Given the description of an element on the screen output the (x, y) to click on. 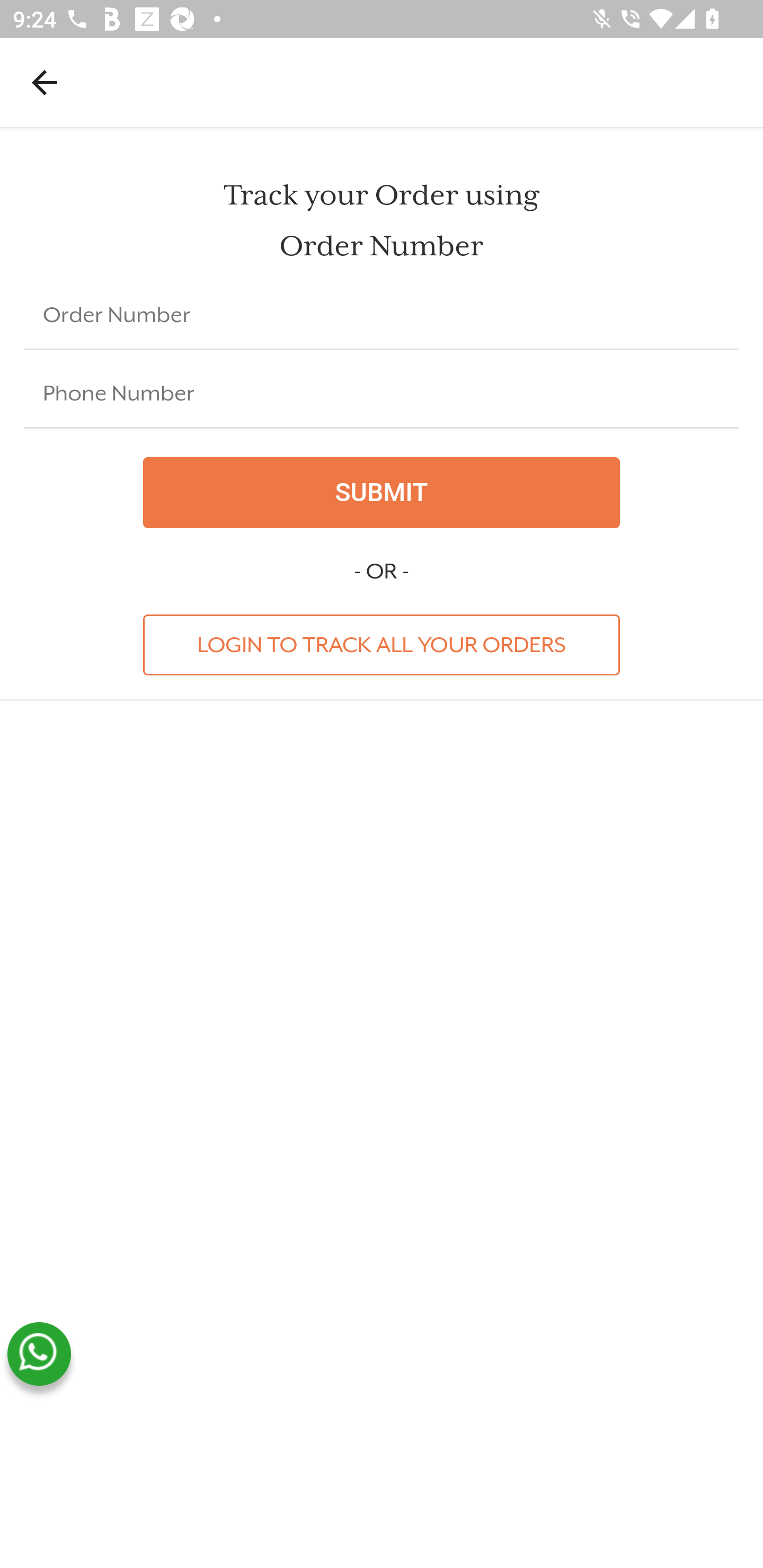
Navigate up (44, 82)
SUBMIT (381, 492)
LOGIN TO TRACK ALL YOUR ORDERS (381, 644)
whatsapp (38, 1353)
